Given the description of an element on the screen output the (x, y) to click on. 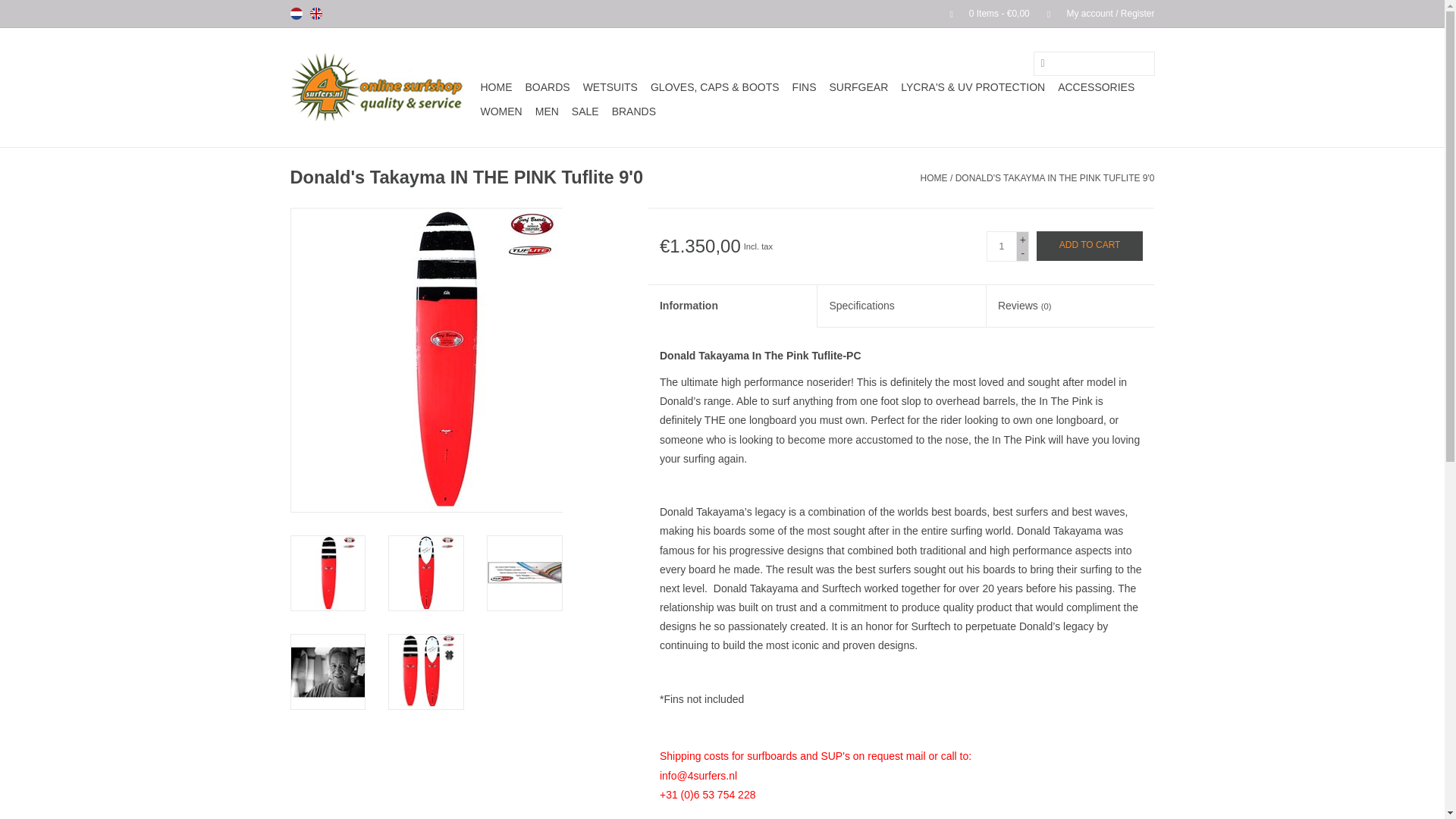
Cart (983, 13)
BOARDS (546, 87)
English (314, 13)
Nederlands (295, 13)
HOME (496, 87)
Boards (546, 87)
1 (1001, 245)
English (314, 13)
4surfers.nl (382, 87)
Nederlands (295, 13)
